Given the description of an element on the screen output the (x, y) to click on. 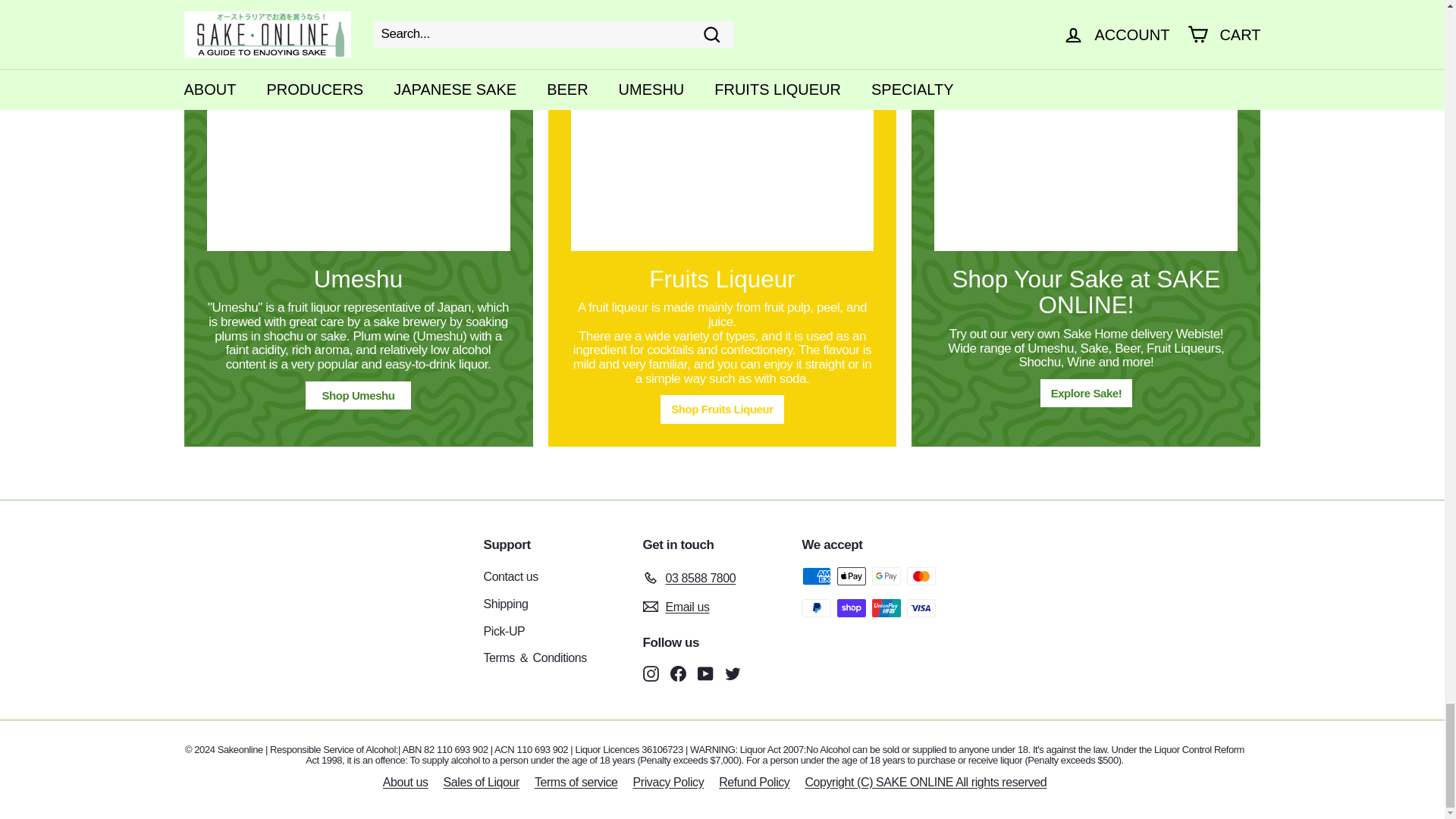
American Express (816, 576)
Mastercard (921, 576)
Sakeonline on Twitter (733, 673)
Sakeonline on Instagram (651, 673)
PayPal (816, 607)
Apple Pay (851, 576)
Sakeonline on YouTube (705, 673)
Sakeonline on Facebook (677, 673)
Google Pay (886, 576)
